Given the description of an element on the screen output the (x, y) to click on. 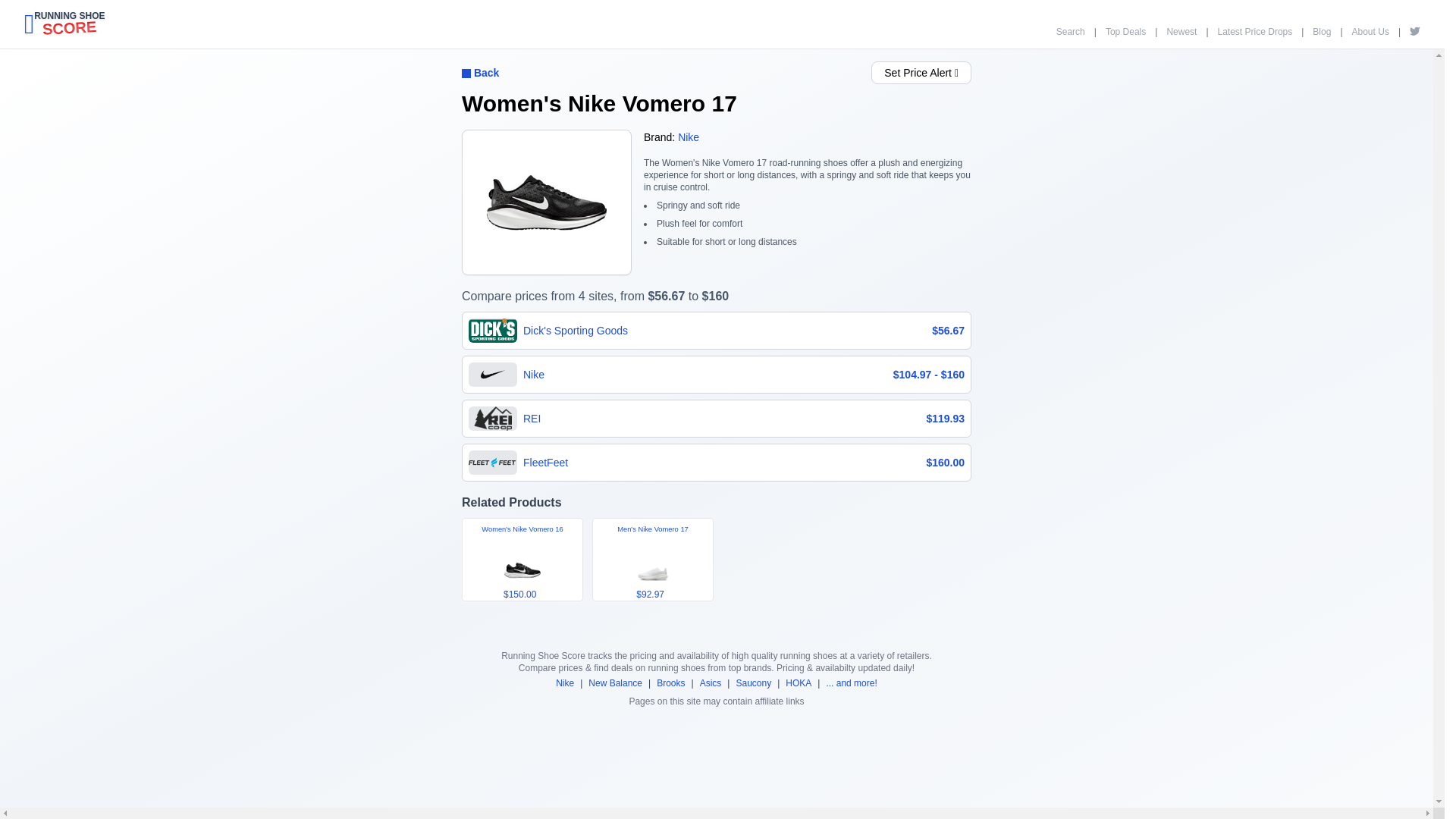
Latest Price Drops (1254, 31)
Blog (1321, 31)
Newest (1181, 31)
HOKA (798, 683)
New Balance (615, 683)
Brooks (670, 683)
Top Deals (1125, 31)
Asics (68, 23)
Search (711, 683)
About Us (1070, 31)
Saucony (1370, 31)
... and more! (753, 683)
Nike (850, 683)
Back (564, 683)
